Given the description of an element on the screen output the (x, y) to click on. 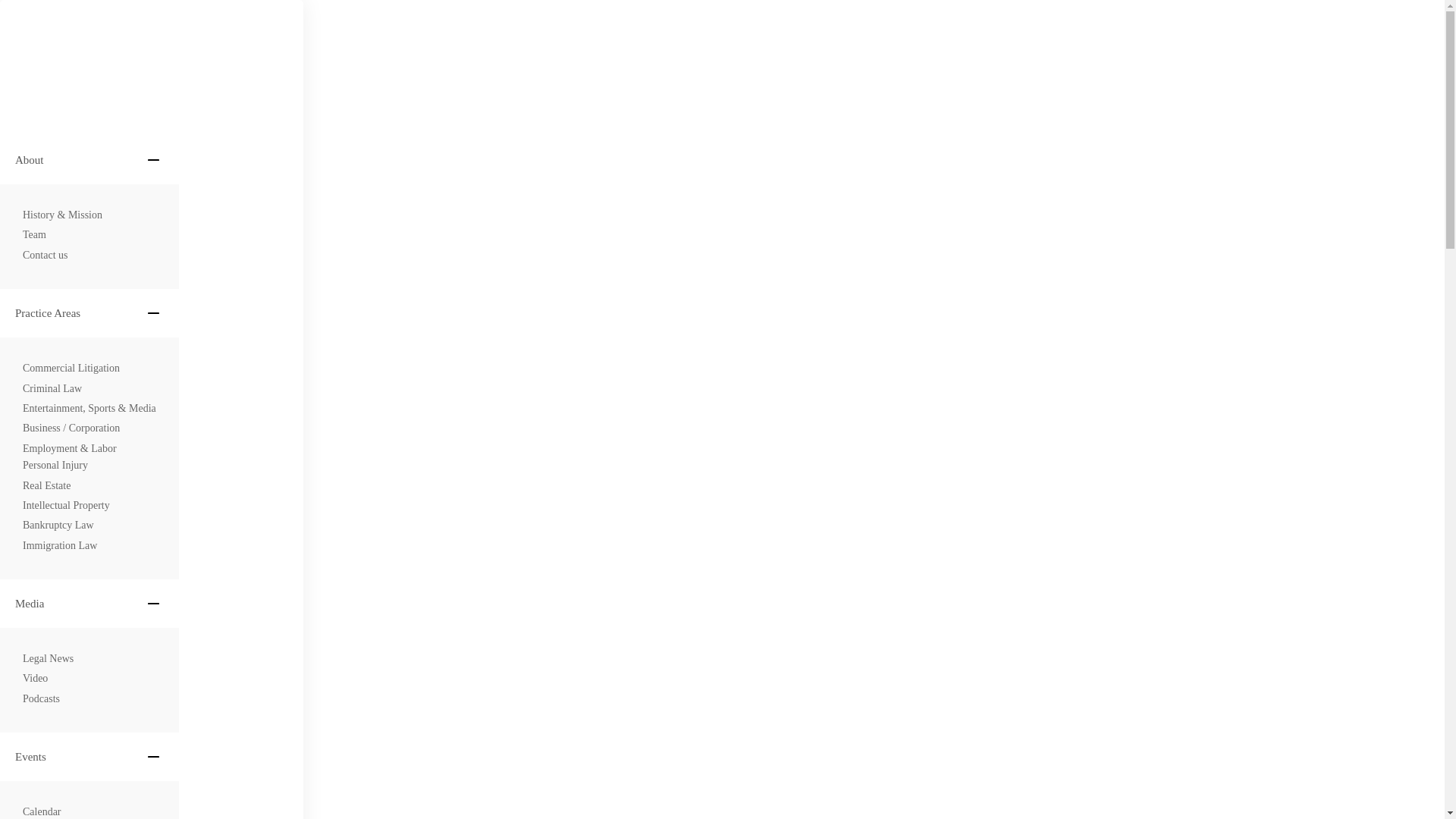
Real Estate (46, 485)
Podcasts (41, 699)
Commercial Litigation (71, 368)
Legal News (48, 658)
Calendar (42, 811)
Criminal Law (52, 388)
Contact us (45, 255)
Immigration Law (60, 545)
Personal Injury (55, 465)
Team (34, 234)
Intellectual Property (66, 505)
Video (35, 678)
Bankruptcy Law (58, 524)
